Given the description of an element on the screen output the (x, y) to click on. 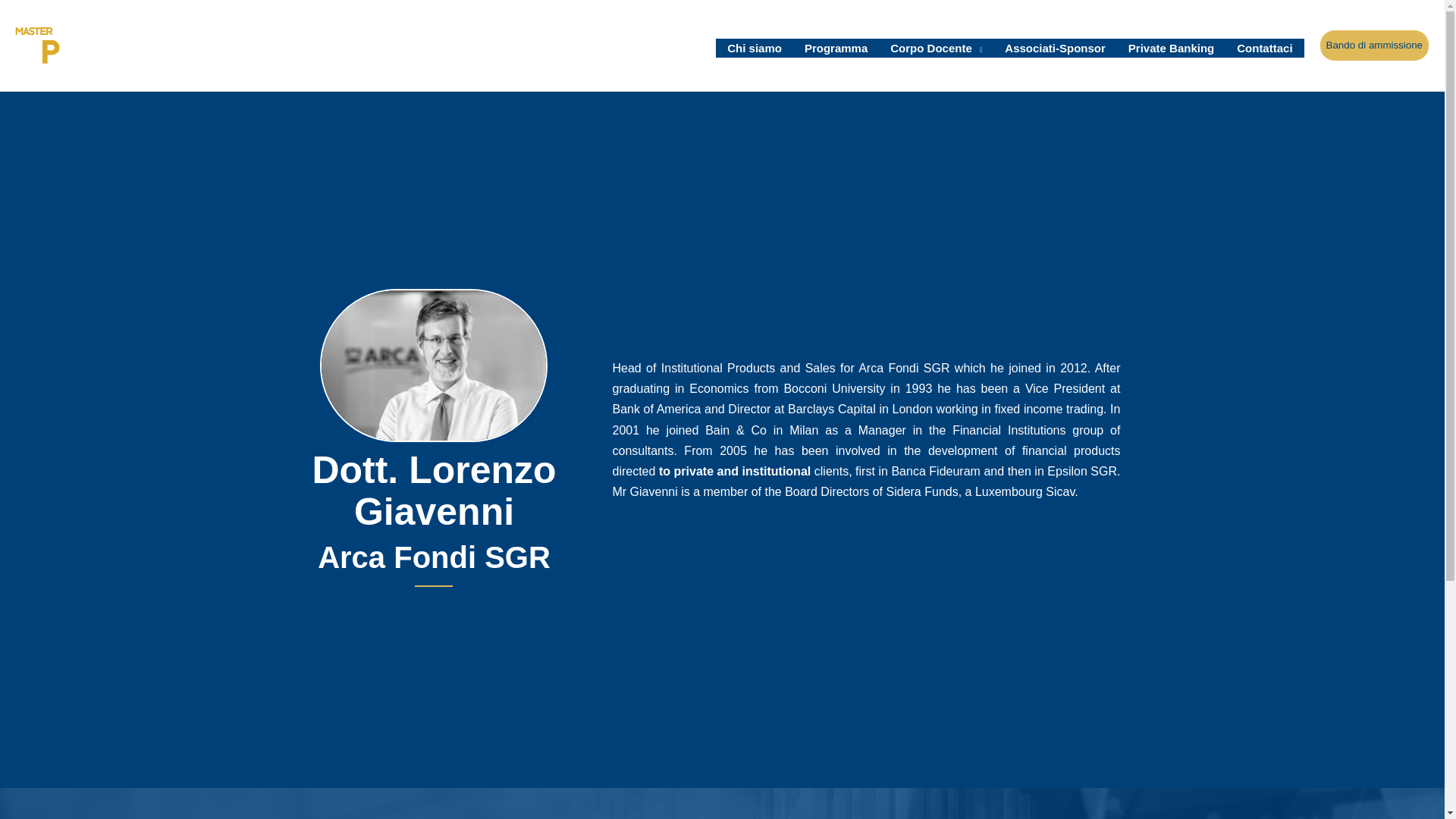
Corpo Docente (935, 48)
Programma (836, 48)
Private Banking (1170, 48)
Bando di ammissione (1374, 45)
Associati-Sponsor (1054, 48)
Chi siamo (754, 48)
Contattaci (1264, 48)
